Given the description of an element on the screen output the (x, y) to click on. 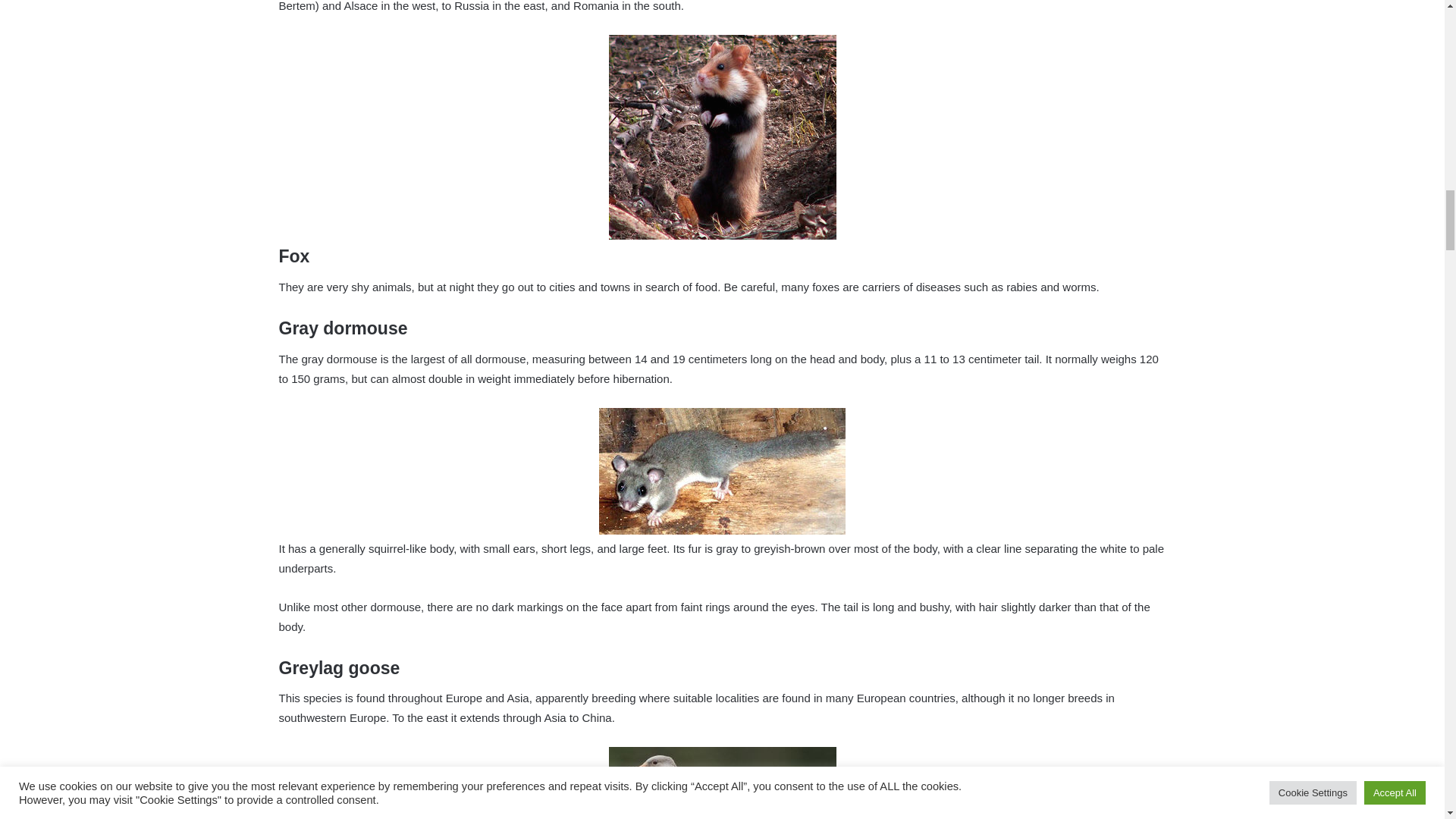
common goose (721, 782)
gray dormouse (721, 470)
european hamster (721, 137)
